Given the description of an element on the screen output the (x, y) to click on. 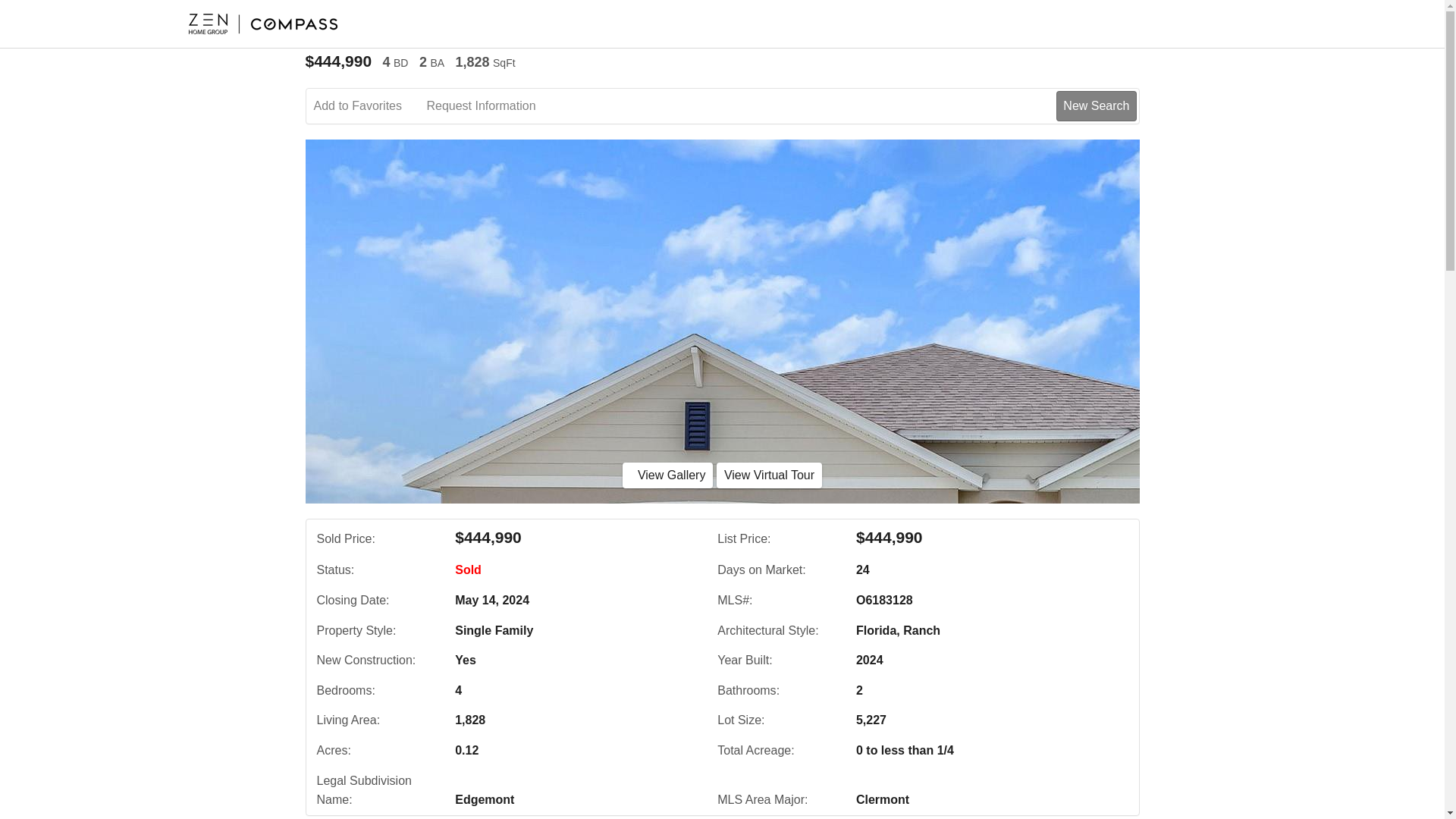
Add to Favorites (368, 106)
View Gallery (668, 475)
View Virtual Tour (769, 475)
New Search (1096, 105)
Request Information (491, 106)
View Virtual Tour (769, 474)
View Gallery (668, 474)
